Given the description of an element on the screen output the (x, y) to click on. 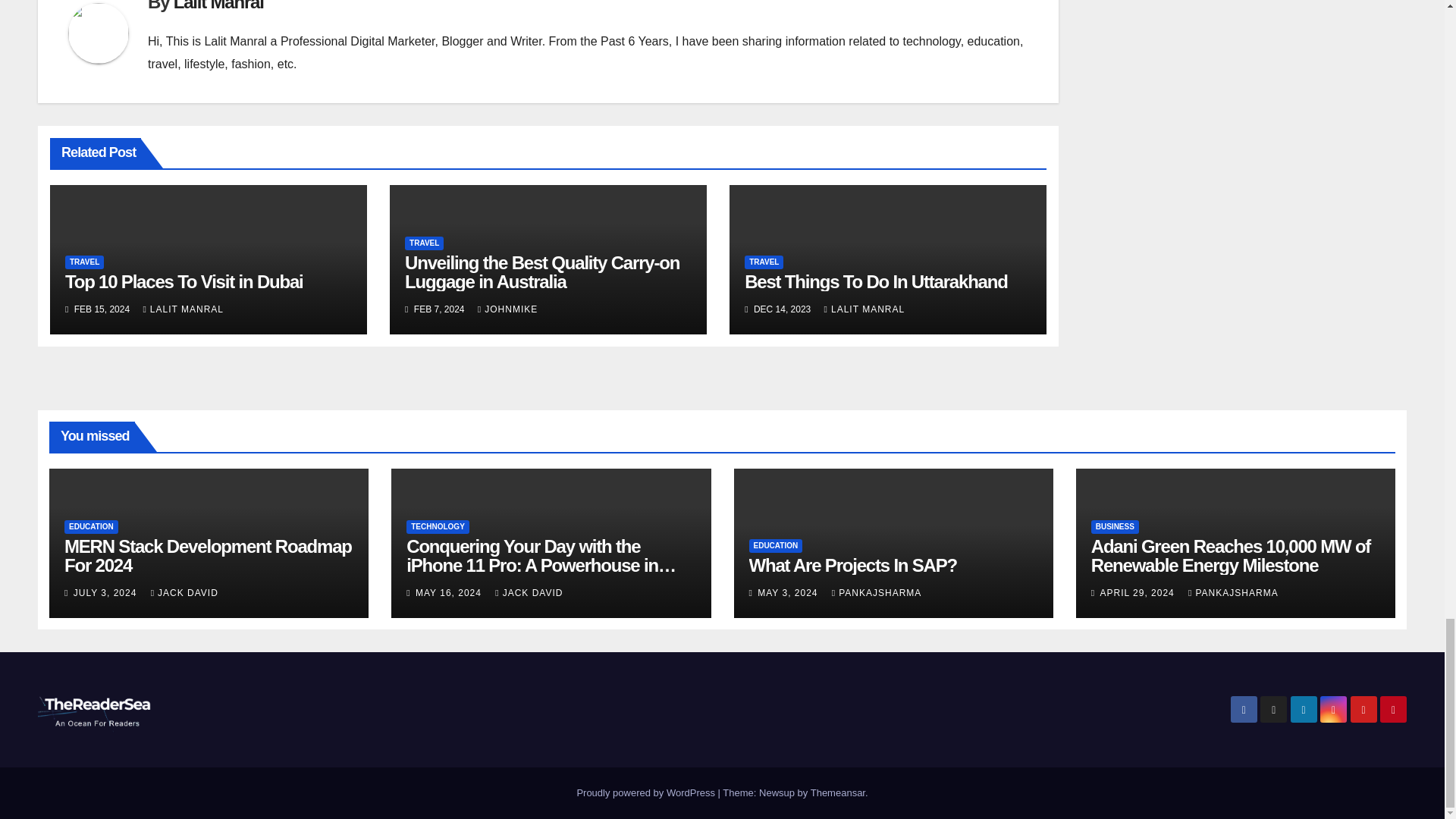
Permalink to: Best Things To Do In Uttarakhand (875, 281)
Permalink to: Top 10 Places To Visit in Dubai (183, 281)
Permalink to: MERN Stack Development Roadmap For 2024 (208, 555)
